Given the description of an element on the screen output the (x, y) to click on. 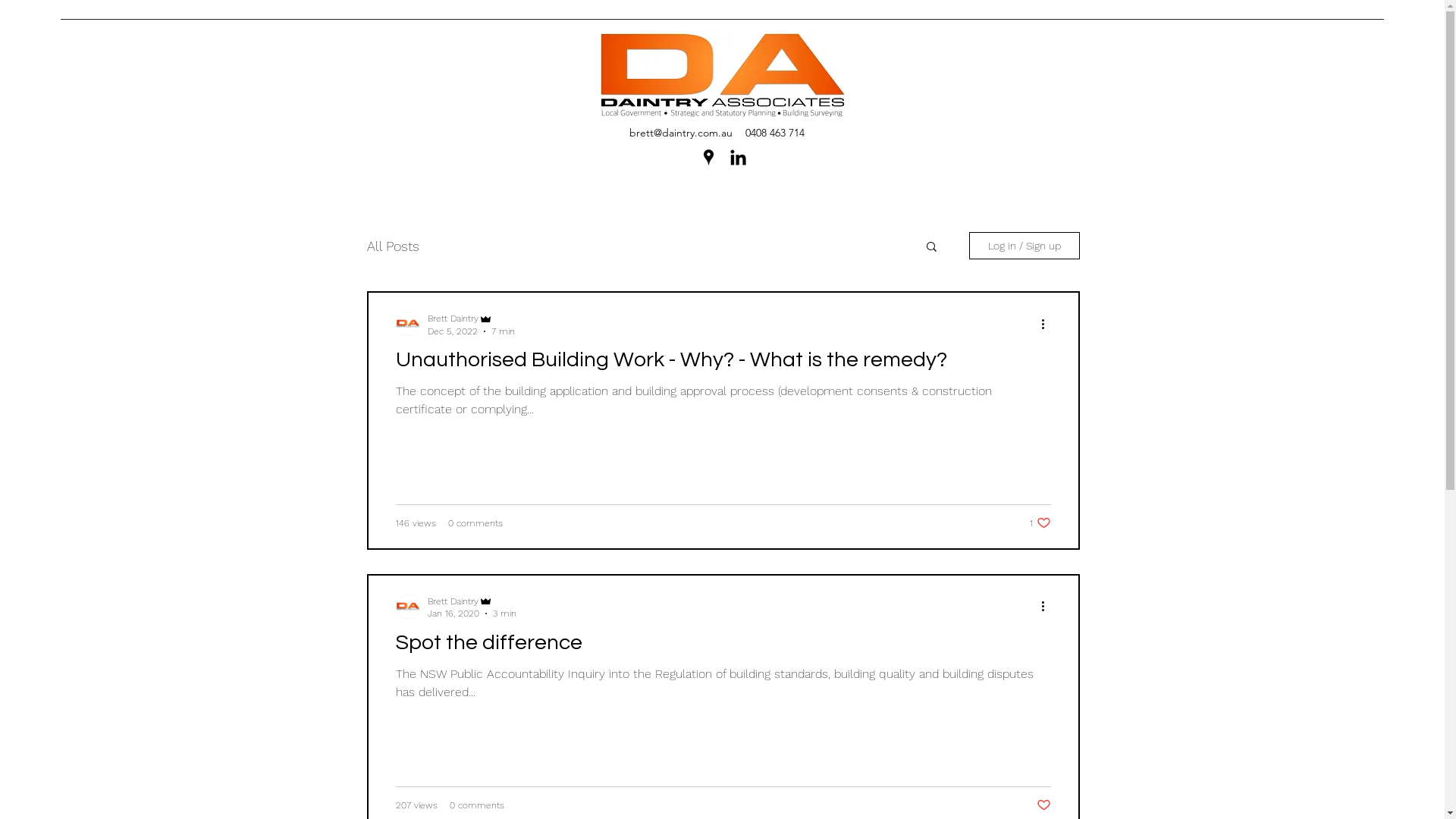
brett@daintry.com.au Element type: text (680, 132)
Log in / Sign up Element type: text (1024, 245)
Post not marked as liked Element type: text (1042, 805)
0 comments Element type: text (475, 805)
1 like. Post not marked as liked
1 Element type: text (1040, 522)
Spot the difference Element type: text (723, 646)
All Posts Element type: text (393, 246)
Unauthorised Building Work - Why? - What is the remedy? Element type: text (723, 363)
0 comments Element type: text (474, 522)
